Given the description of an element on the screen output the (x, y) to click on. 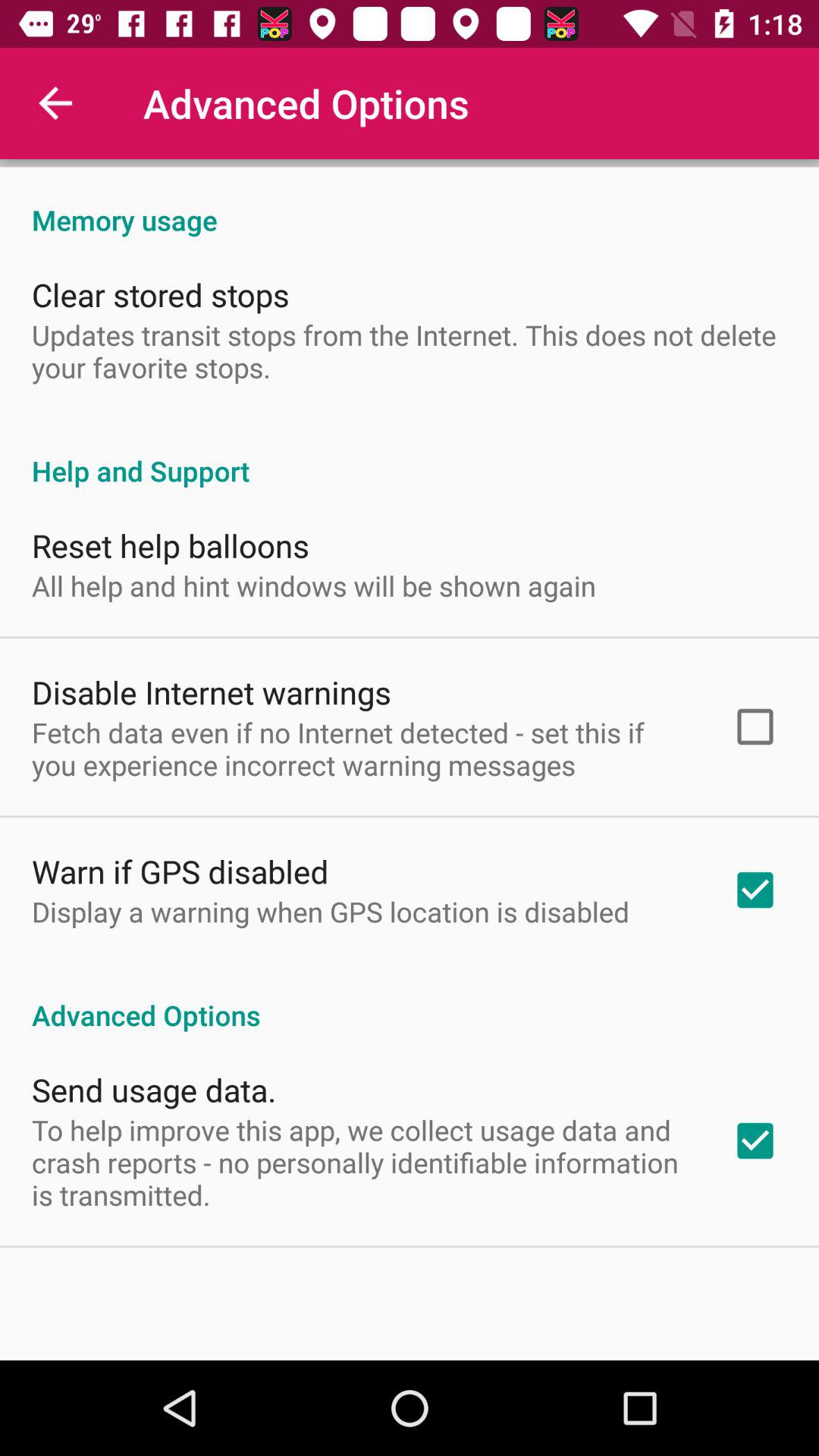
click item above clear stored stops (409, 203)
